Given the description of an element on the screen output the (x, y) to click on. 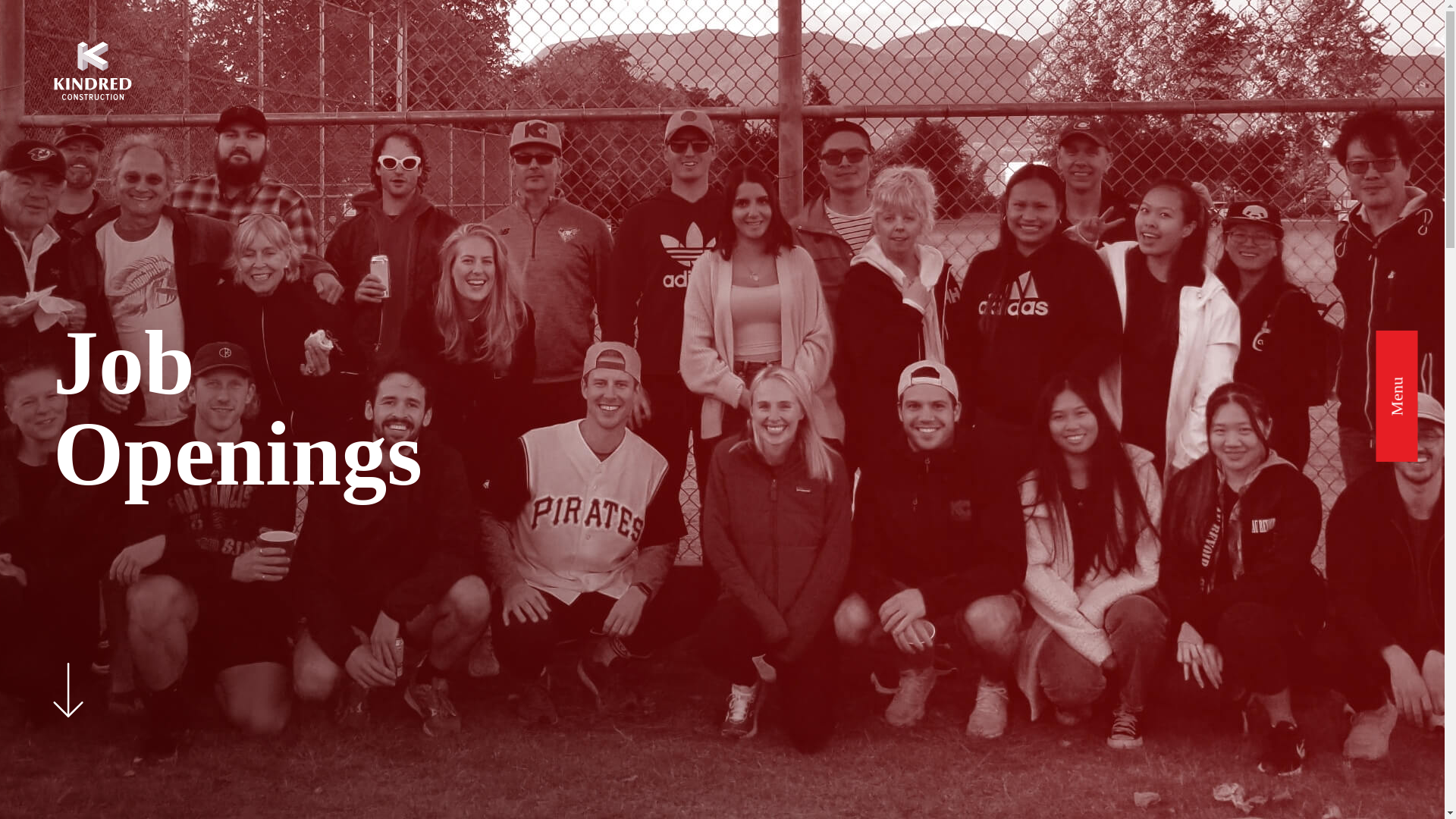
Kindred Construction (92, 71)
